Given the description of an element on the screen output the (x, y) to click on. 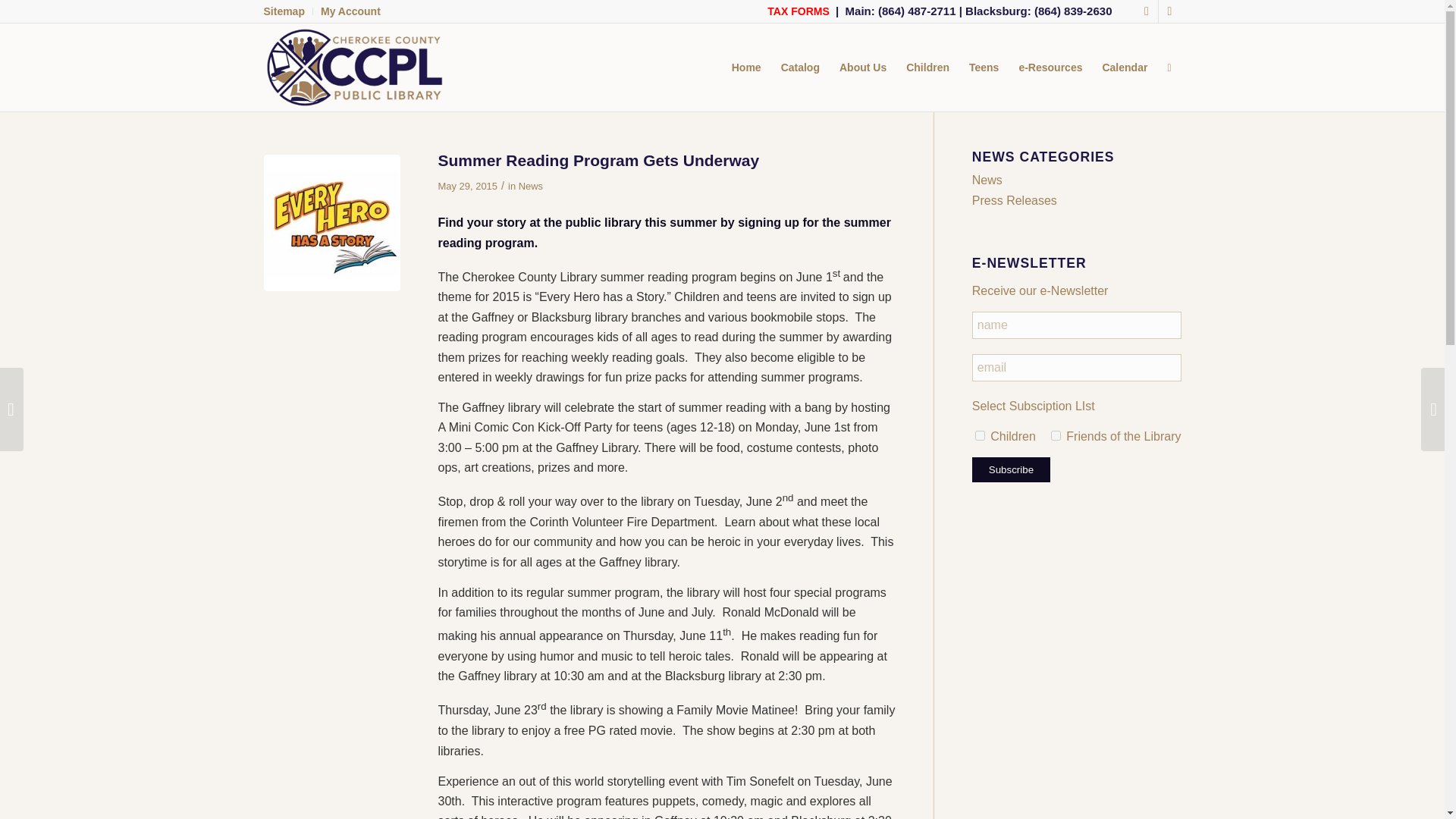
Facebook (1146, 11)
Friends of the Library (1056, 435)
My Account (350, 11)
Subscribe (1010, 469)
image 223 (331, 222)
News (530, 185)
Press Releases (1014, 200)
News (987, 179)
Mail (1169, 11)
Sitemap (283, 11)
